Given the description of an element on the screen output the (x, y) to click on. 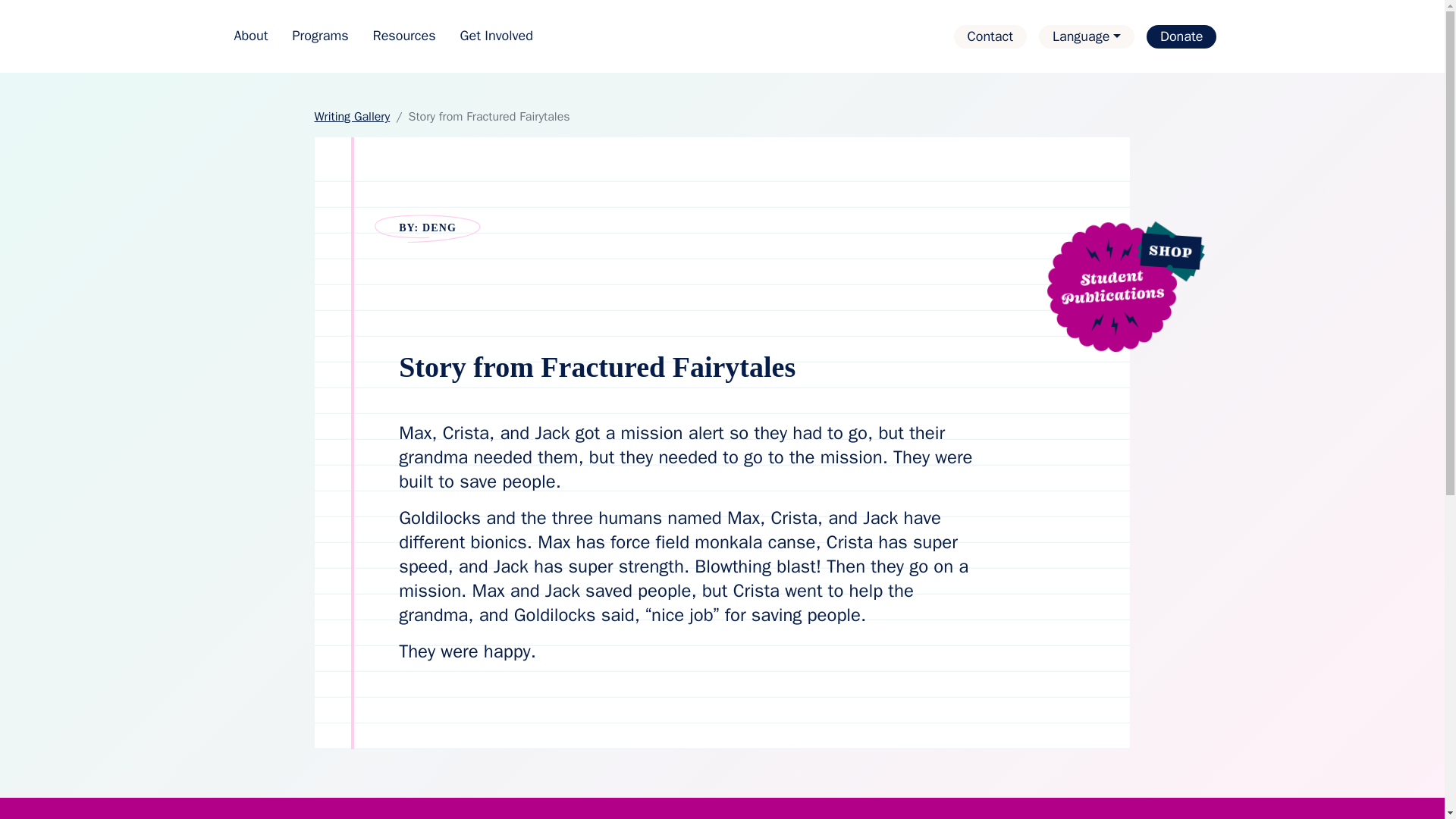
Get Involved (496, 36)
About (250, 36)
Resources (404, 36)
Language (1086, 36)
Programs (319, 36)
Contact (989, 36)
826DC (721, 36)
